Given the description of an element on the screen output the (x, y) to click on. 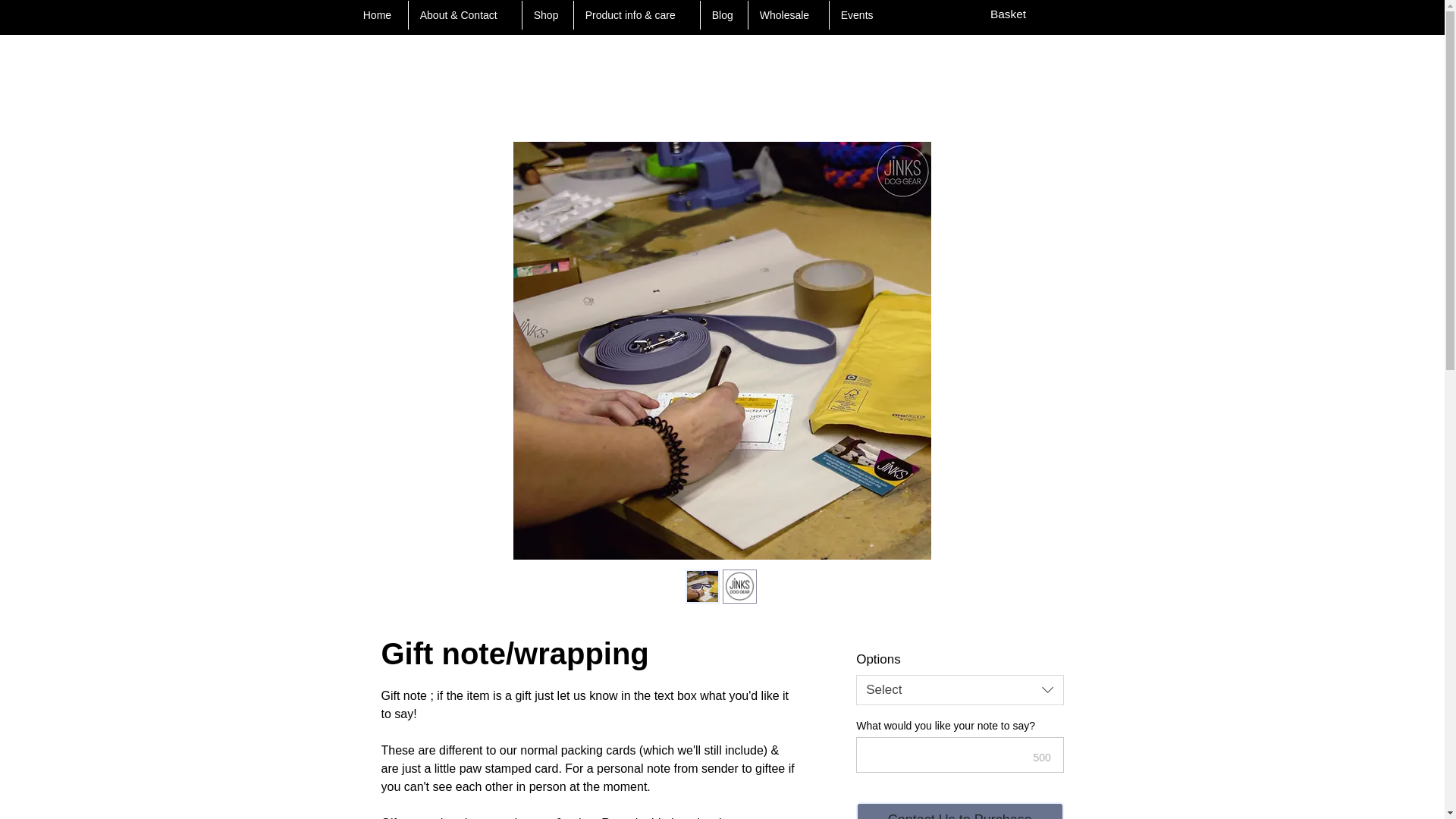
Blog (724, 14)
Events (857, 14)
Contact Us to Purchase (959, 810)
Basket (1019, 14)
Wholesale (788, 14)
Shop (547, 14)
Home (379, 14)
Select (959, 689)
Basket (1019, 14)
